Given the description of an element on the screen output the (x, y) to click on. 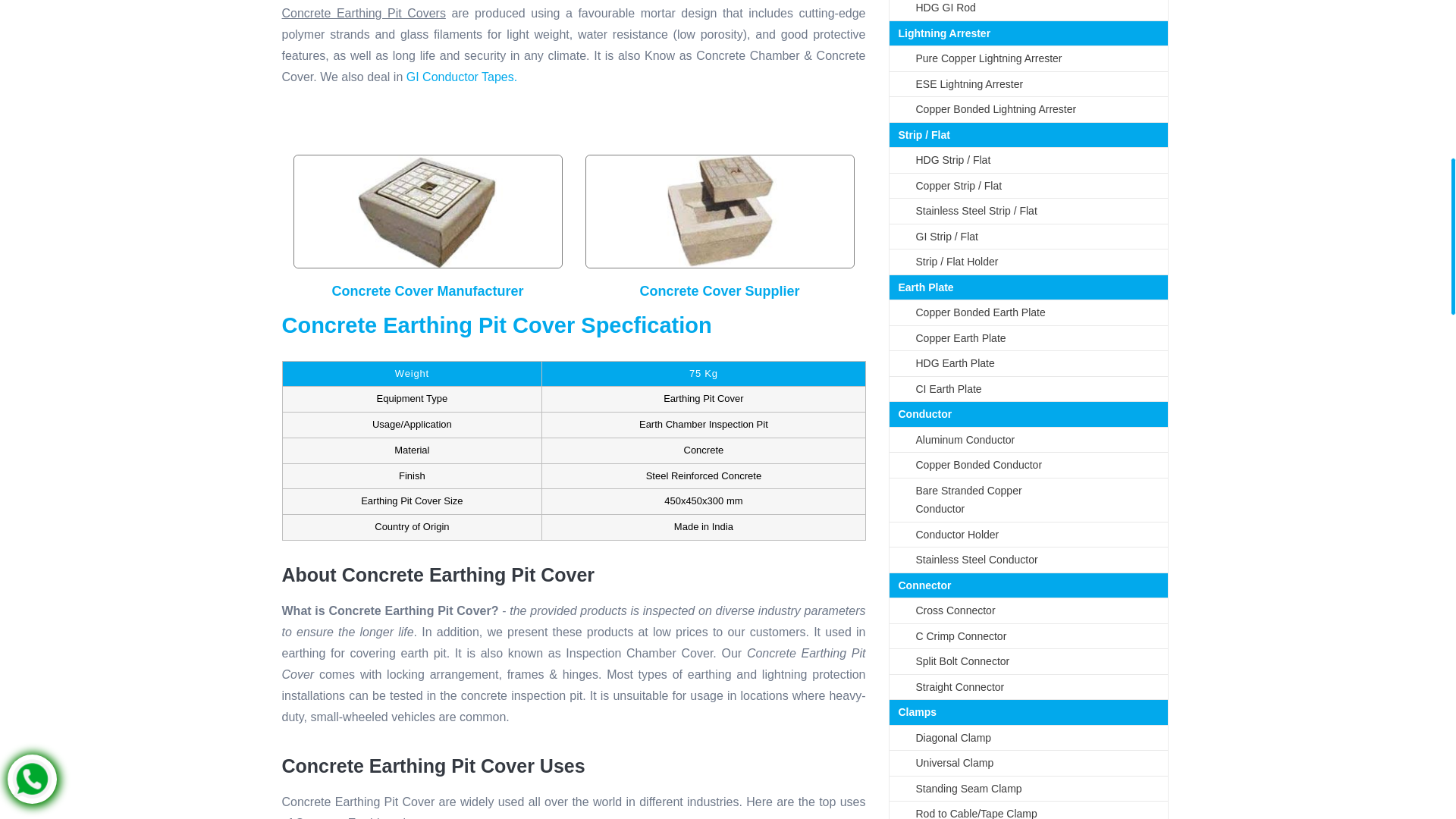
Concrete Cover Manufacturer (428, 211)
Concrete Cover Supplier (719, 211)
